Given the description of an element on the screen output the (x, y) to click on. 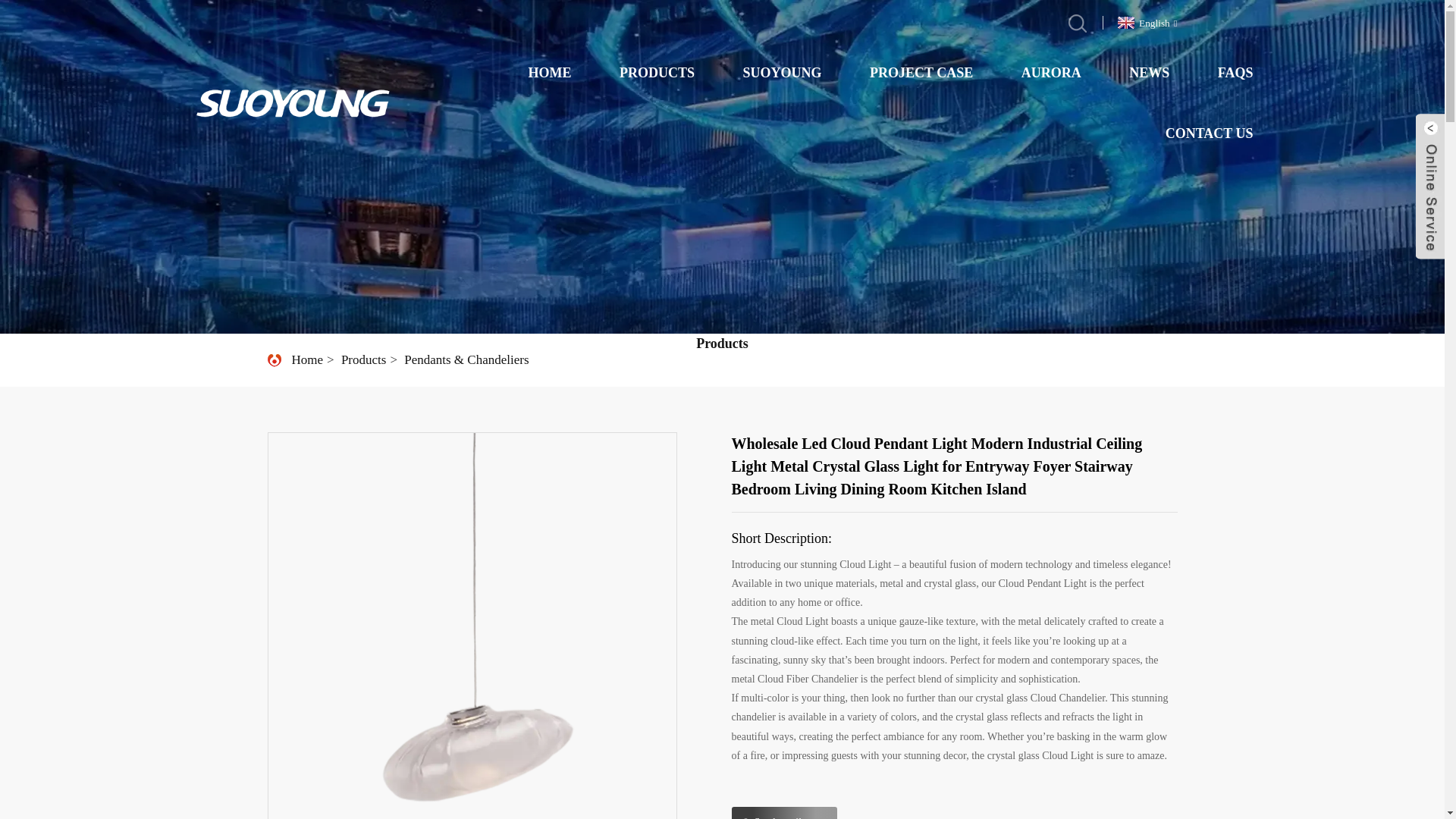
English (1144, 21)
